Given the description of an element on the screen output the (x, y) to click on. 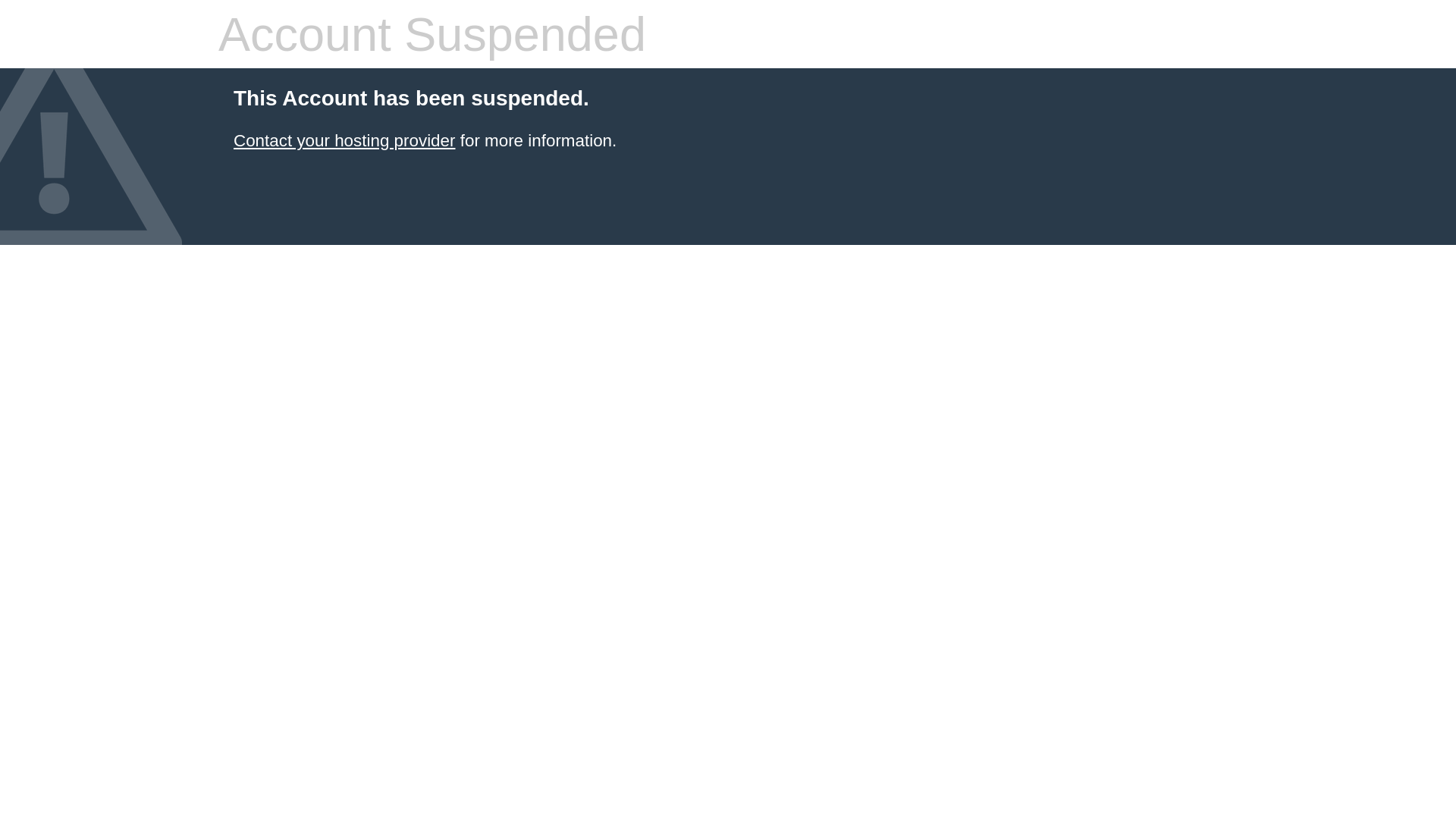
Contact your hosting provider Element type: text (344, 140)
